Given the description of an element on the screen output the (x, y) to click on. 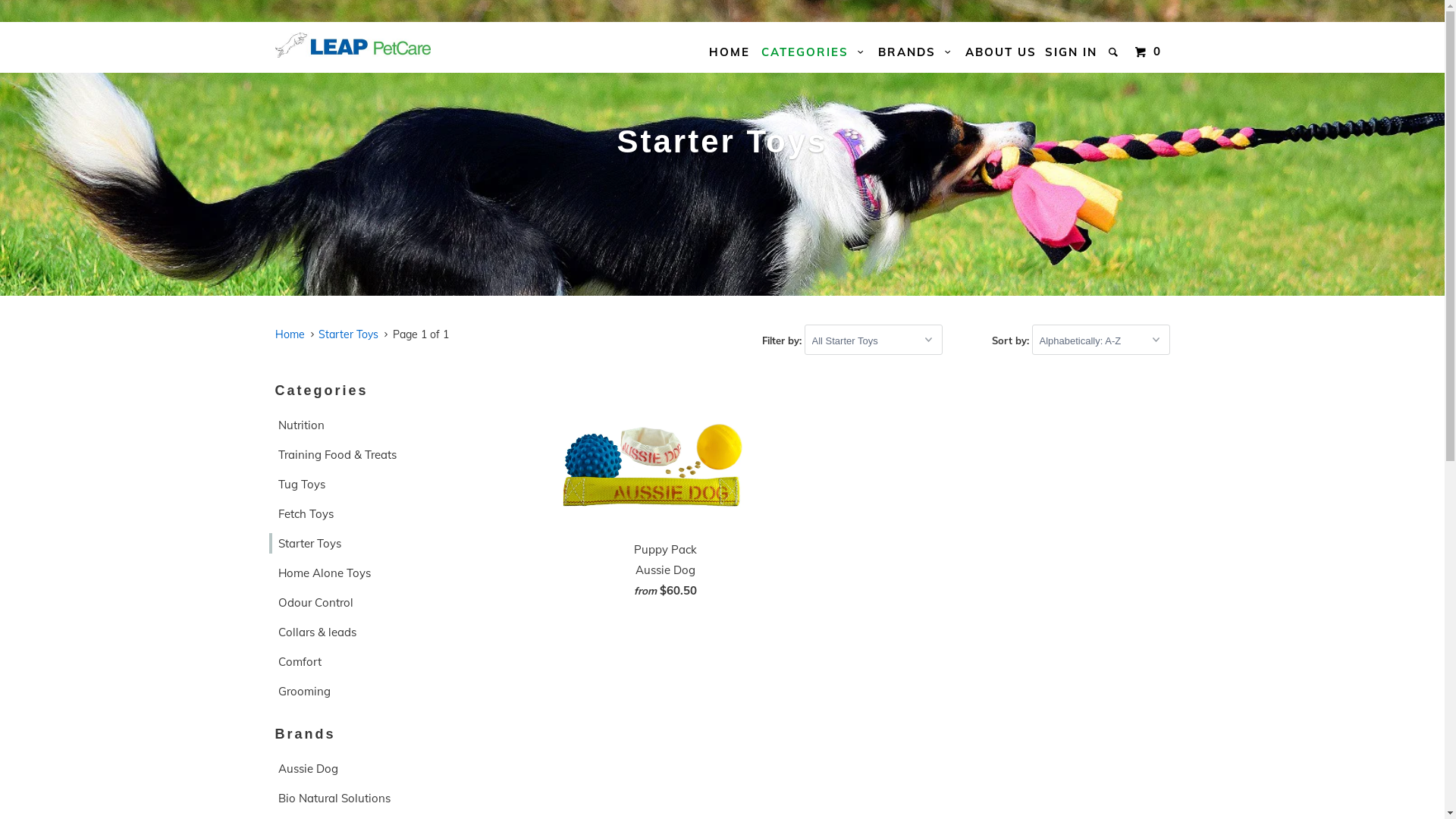
Search Element type: hover (1114, 51)
Puppy Pack
Aussie Dog
from $60.50 Element type: text (665, 489)
Home Alone Toys Element type: text (374, 572)
Tug Toys Element type: text (374, 483)
Starter Toys Element type: text (374, 543)
Odour Control Element type: text (374, 602)
ABOUT US Element type: text (999, 51)
Nutrition Element type: text (374, 424)
Bio Natural Solutions Element type: text (374, 797)
Starter Toys Element type: text (348, 334)
SIGN IN Element type: text (1070, 51)
Training Food & Treats Element type: text (374, 454)
CATEGORIES   Element type: text (813, 51)
Fetch Toys Element type: text (374, 513)
Collars & leads Element type: text (374, 631)
Comfort Element type: text (374, 661)
HOME Element type: text (728, 51)
0 Element type: text (1149, 51)
BRANDS   Element type: text (916, 51)
LEAP PetCare Element type: hover (351, 44)
Aussie Dog Element type: text (374, 768)
Home Element type: text (289, 334)
Grooming Element type: text (374, 690)
